Given the description of an element on the screen output the (x, y) to click on. 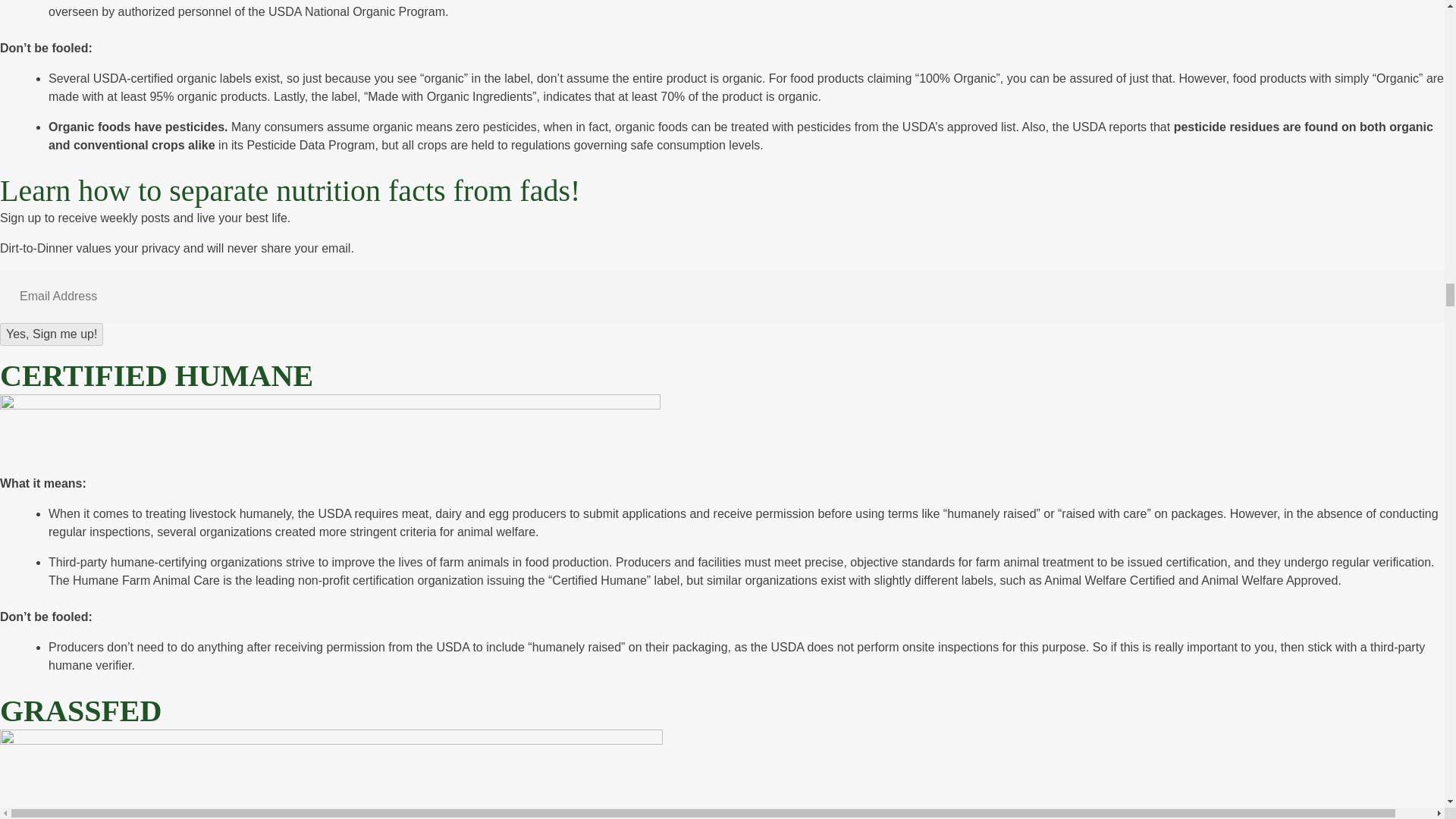
Yes, Sign me up! (51, 333)
